Given the description of an element on the screen output the (x, y) to click on. 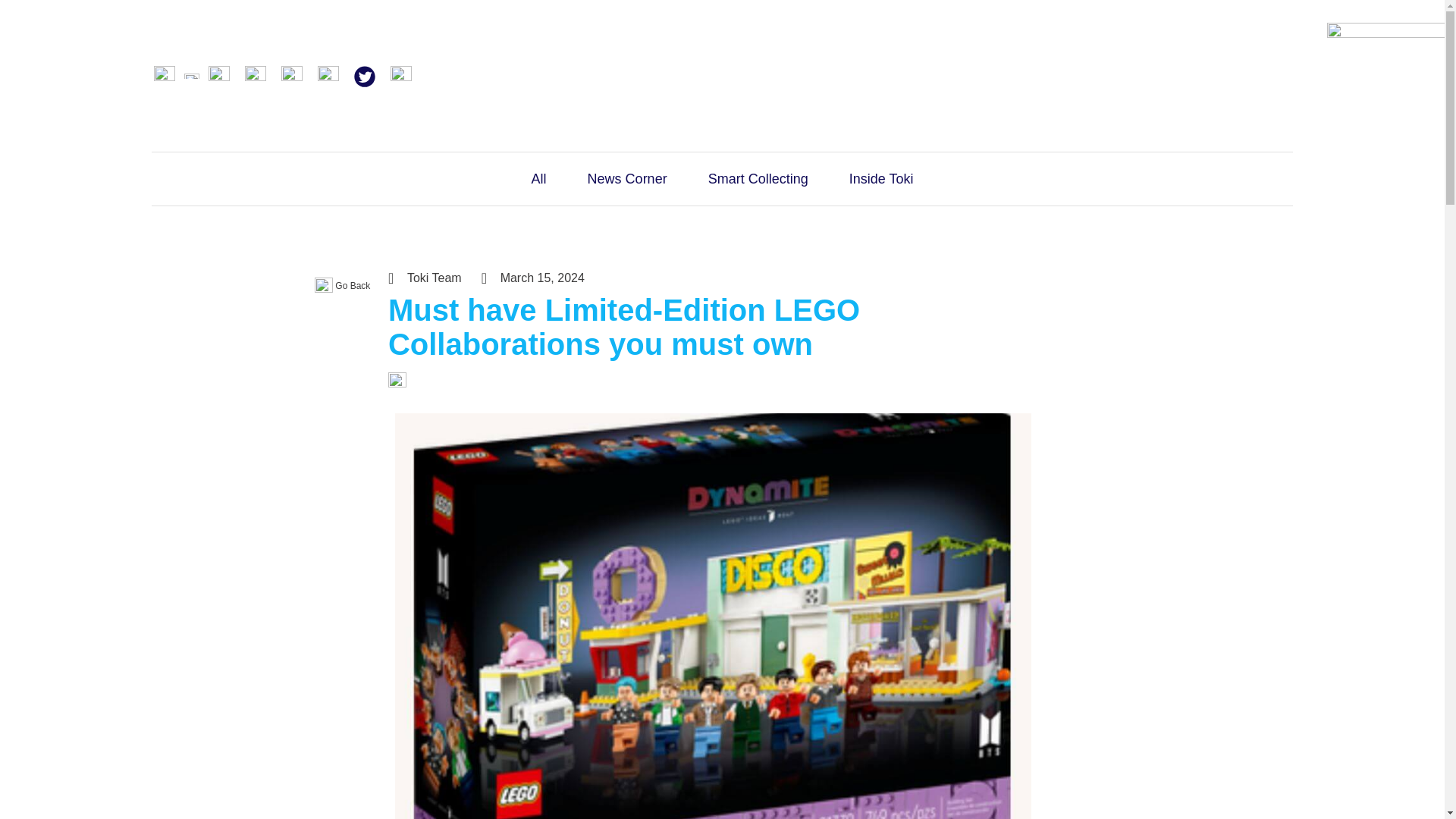
Smart Collecting (757, 178)
Inside Toki (881, 178)
Toki Team (424, 277)
News Corner (627, 178)
All (539, 178)
